Given the description of an element on the screen output the (x, y) to click on. 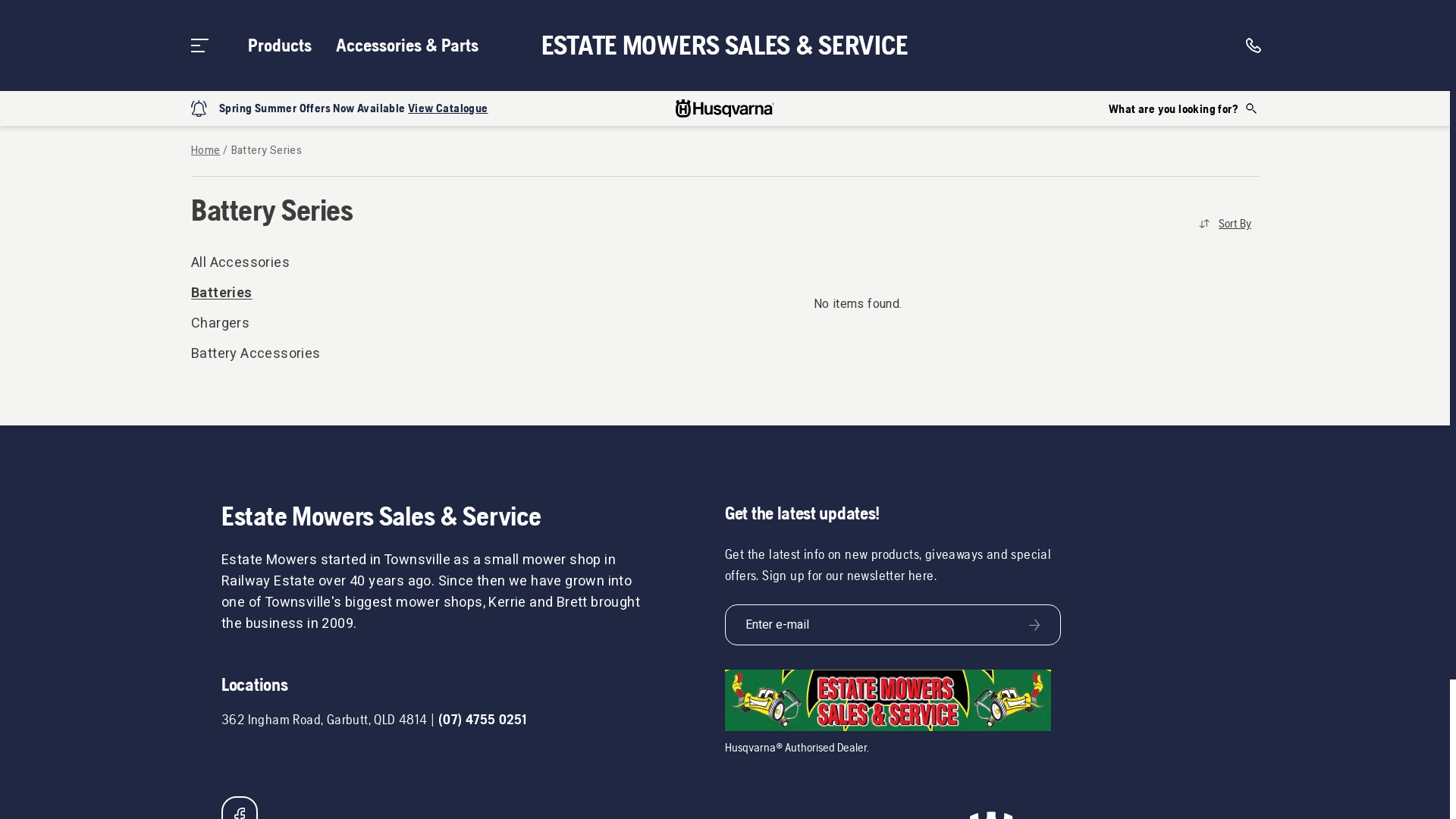
Products Element type: text (279, 45)
(07) 4755 0251 Element type: text (482, 719)
ESTATE MOWERS SALES & SERVICE Element type: text (724, 45)
Accessories & Parts Element type: text (406, 45)
All Accessories Element type: text (304, 262)
Batteries Element type: text (304, 293)
Battery Accessories Element type: text (304, 353)
362 Ingham Road, Garbutt, QLD 4814 Element type: text (324, 719)
Home Element type: text (205, 150)
Sort By Element type: text (1224, 223)
Chargers Element type: text (304, 323)
What are you looking for? Element type: text (1183, 108)
View Catalogue Element type: text (447, 107)
